Given the description of an element on the screen output the (x, y) to click on. 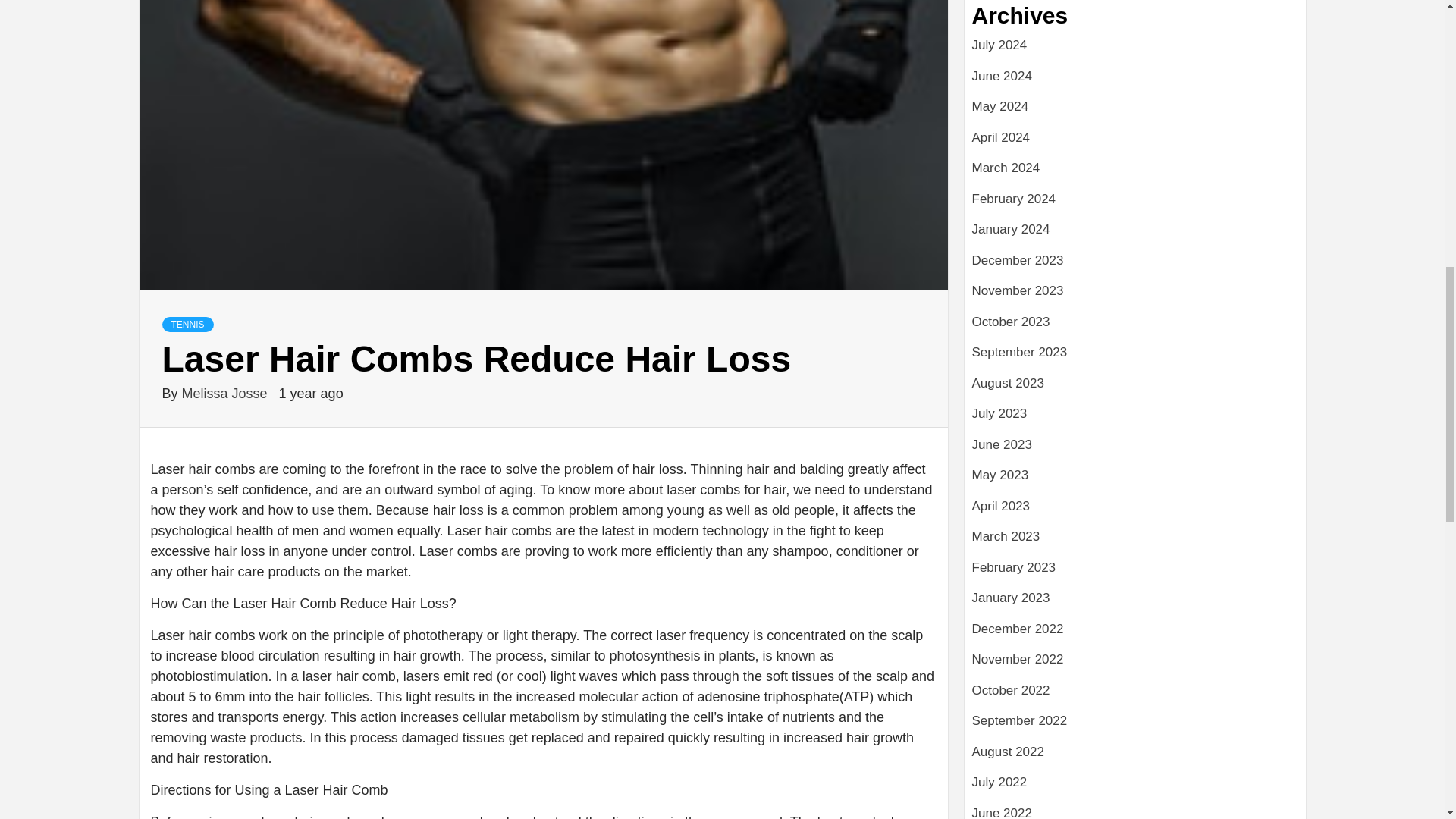
March 2024 (1135, 173)
TENNIS (187, 324)
July 2024 (1135, 51)
June 2024 (1135, 81)
December 2023 (1135, 265)
January 2024 (1135, 235)
Melissa Josse (226, 393)
February 2024 (1135, 204)
May 2024 (1135, 112)
April 2024 (1135, 142)
October 2023 (1135, 327)
November 2023 (1135, 296)
